Given the description of an element on the screen output the (x, y) to click on. 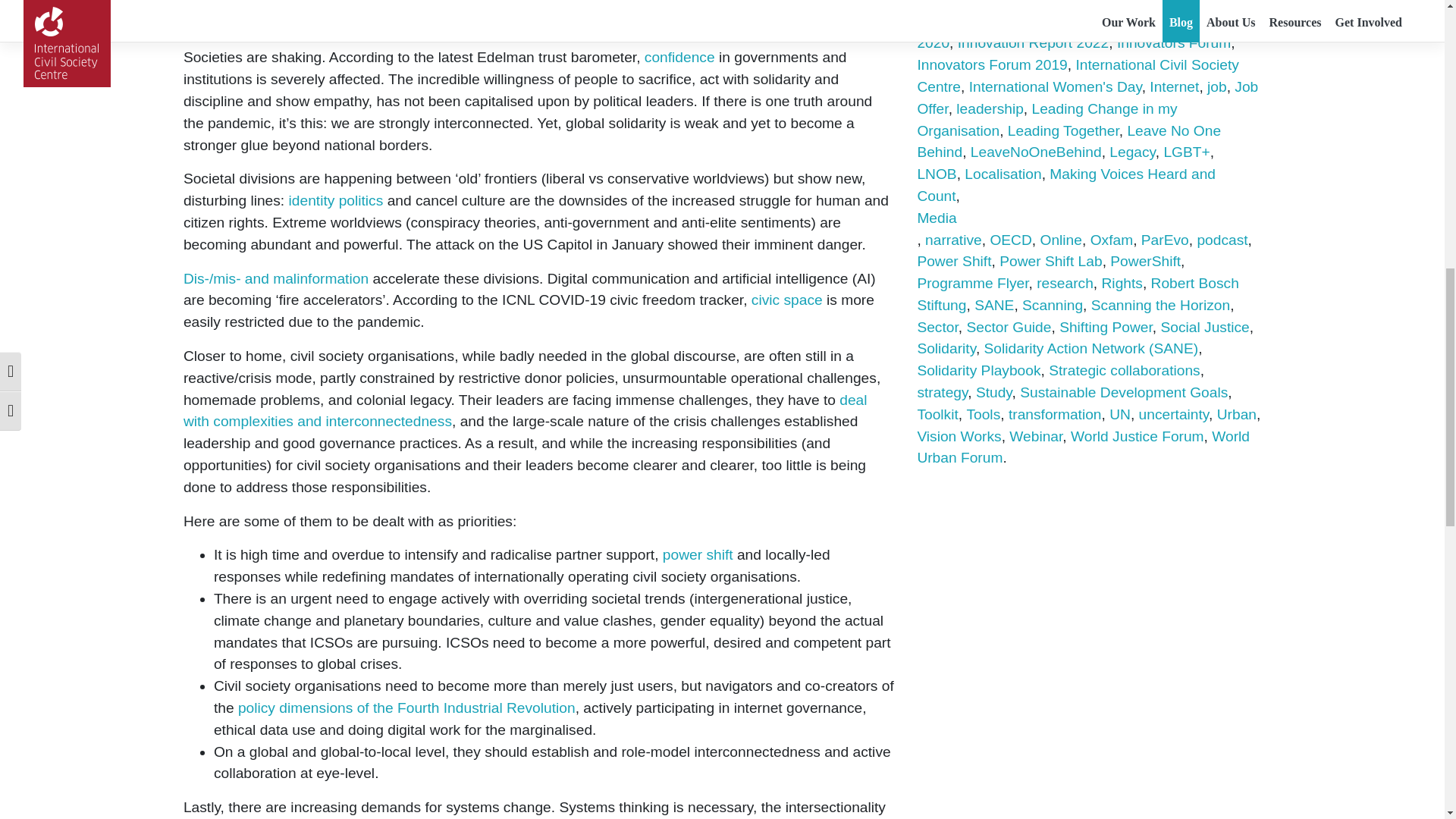
policy dimensions of the Fourth Industrial Revolution (406, 707)
power shift (697, 554)
identity politics (336, 200)
confidence (679, 57)
civic space (786, 299)
deal with complexities and interconnectedness (525, 410)
